Given the description of an element on the screen output the (x, y) to click on. 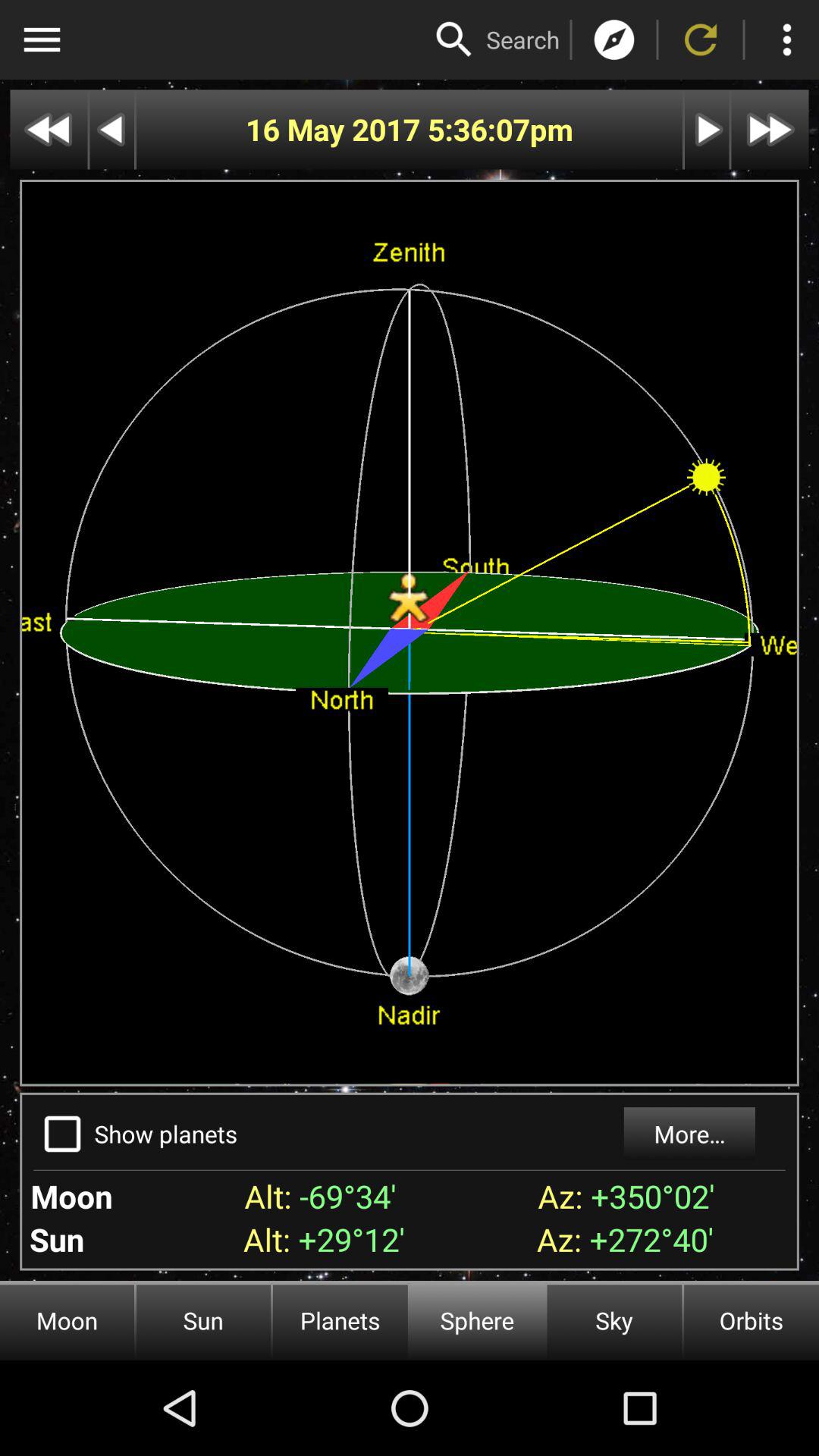
forward option (769, 129)
